Given the description of an element on the screen output the (x, y) to click on. 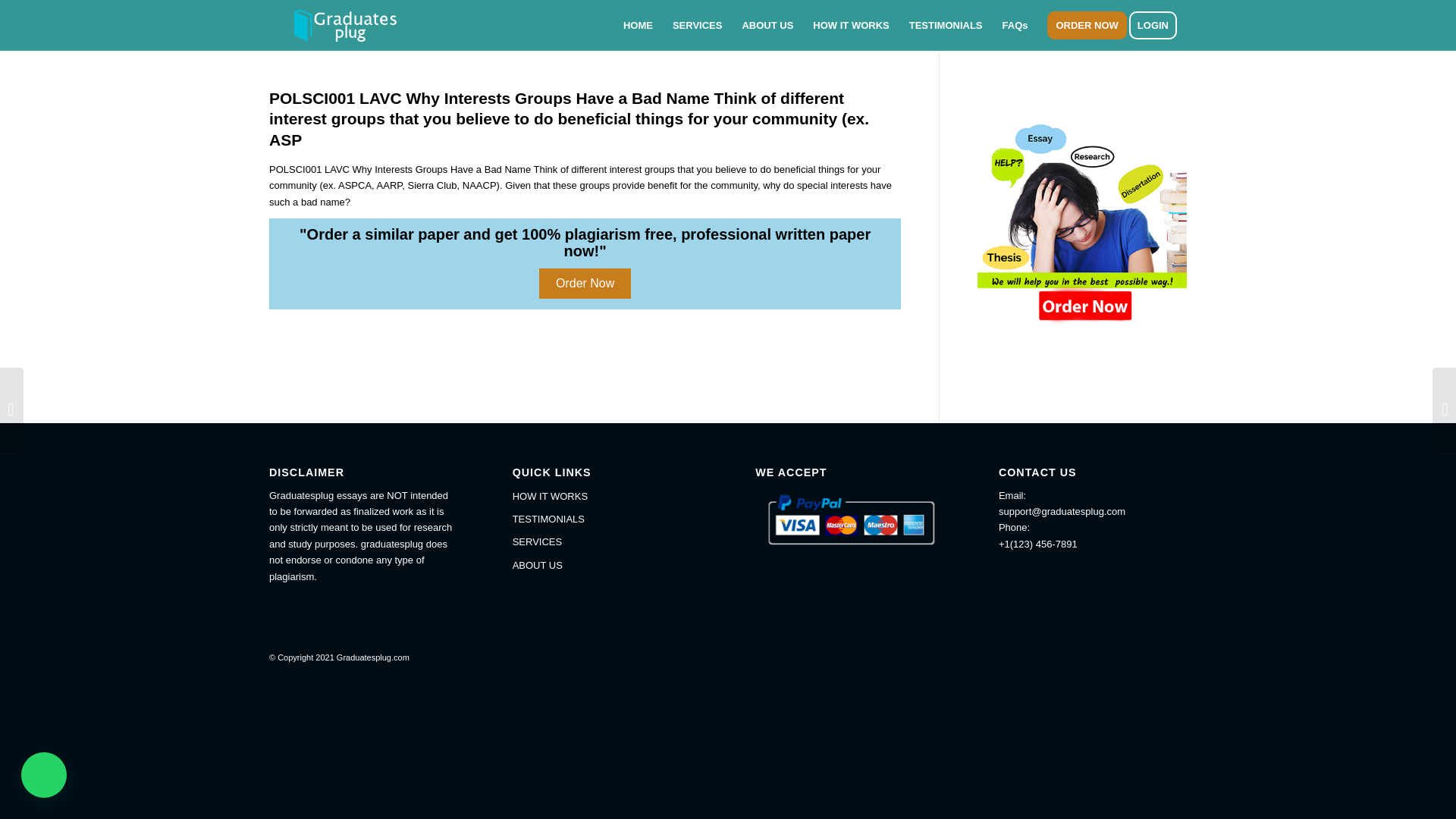
SERVICES (697, 24)
ABOUT US (606, 565)
HOW IT WORKS (850, 24)
TESTIMONIALS (606, 518)
ABOUT US (767, 24)
Order Now (584, 283)
TESTIMONIALS (945, 24)
LOGIN (1157, 24)
HOW IT WORKS (606, 496)
HOME (637, 24)
ORDER NOW (1085, 24)
SERVICES (606, 541)
FAQs (1015, 24)
